Given the description of an element on the screen output the (x, y) to click on. 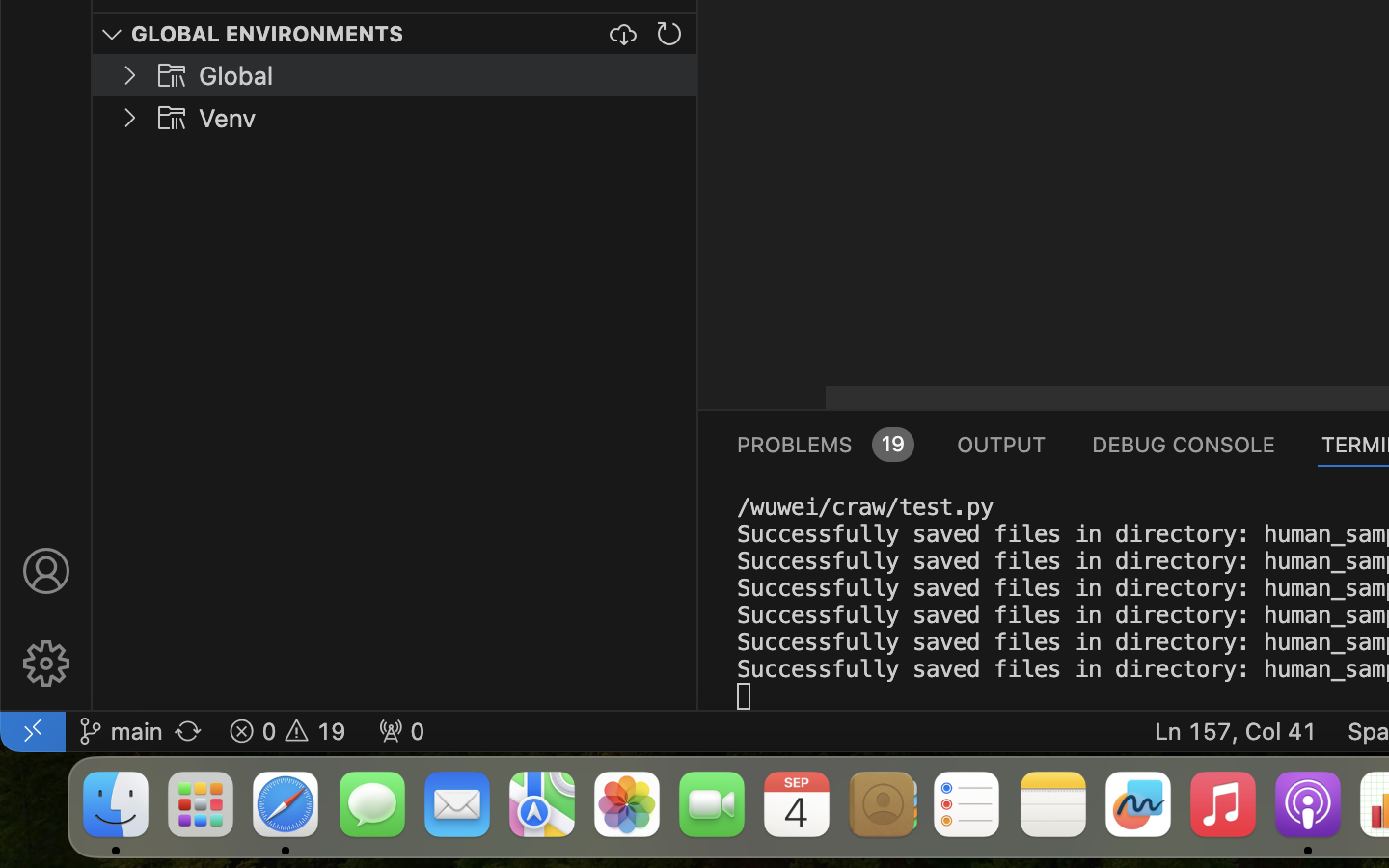
Venv Element type: AXStaticText (227, 118)
0 OUTPUT Element type: AXRadioButton (1001, 443)
Global Element type: AXStaticText (235, 75)
